Given the description of an element on the screen output the (x, y) to click on. 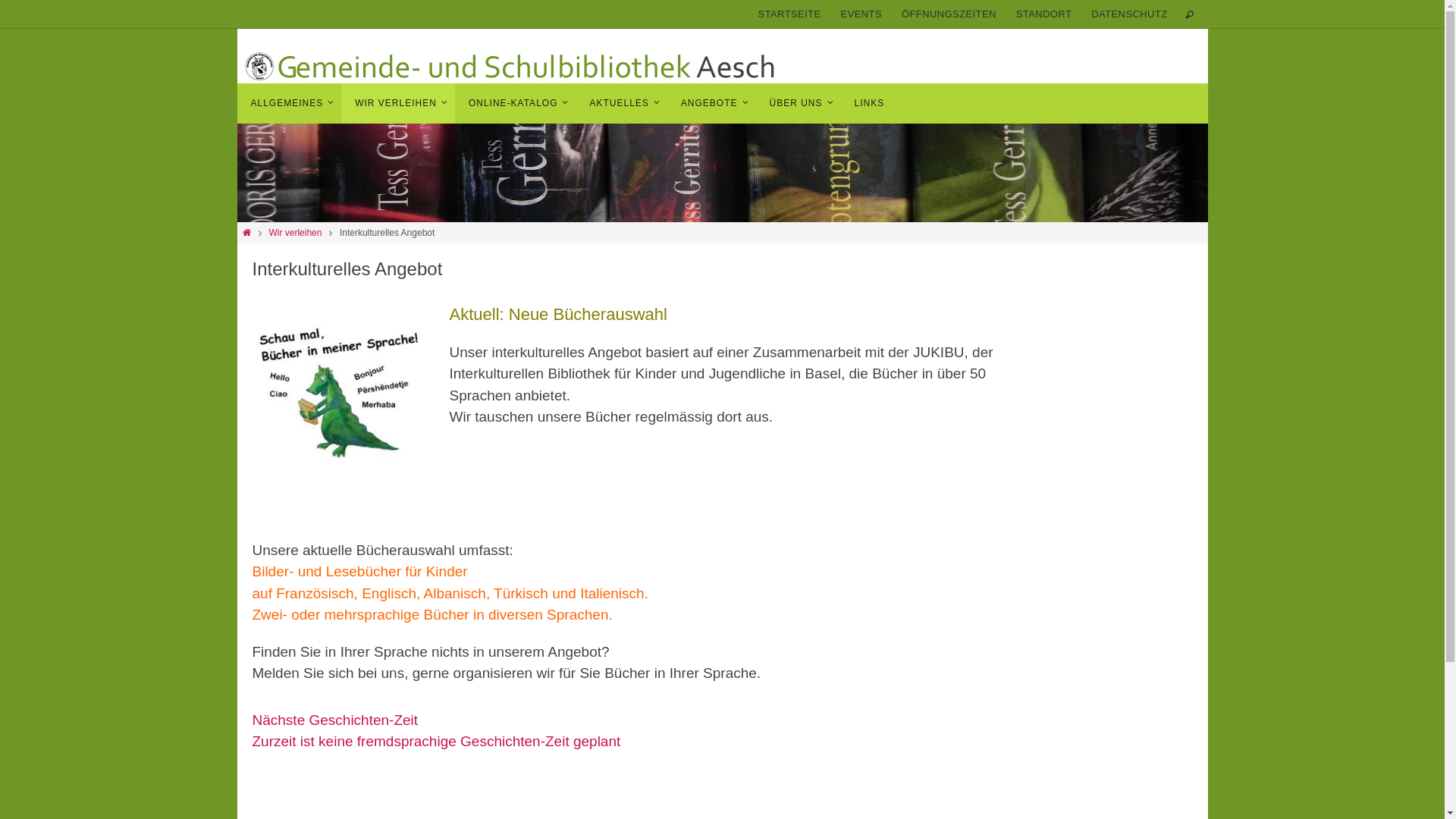
STANDORT Element type: text (1043, 14)
LINKS Element type: text (869, 103)
DATENSCHUTZ Element type: text (1128, 14)
Wir verleihen Element type: text (294, 232)
Gemeinde- und Schulbibliothek Aesch Element type: hover (509, 66)
EVENTS Element type: text (861, 14)
AKTUELLES Element type: text (620, 103)
ANGEBOTE Element type: text (711, 103)
WIR VERLEIHEN Element type: text (398, 103)
STARTSEITE Element type: text (789, 14)
ALLGEMEINES Element type: text (288, 103)
ONLINE-KATALOG Element type: text (515, 103)
